Given the description of an element on the screen output the (x, y) to click on. 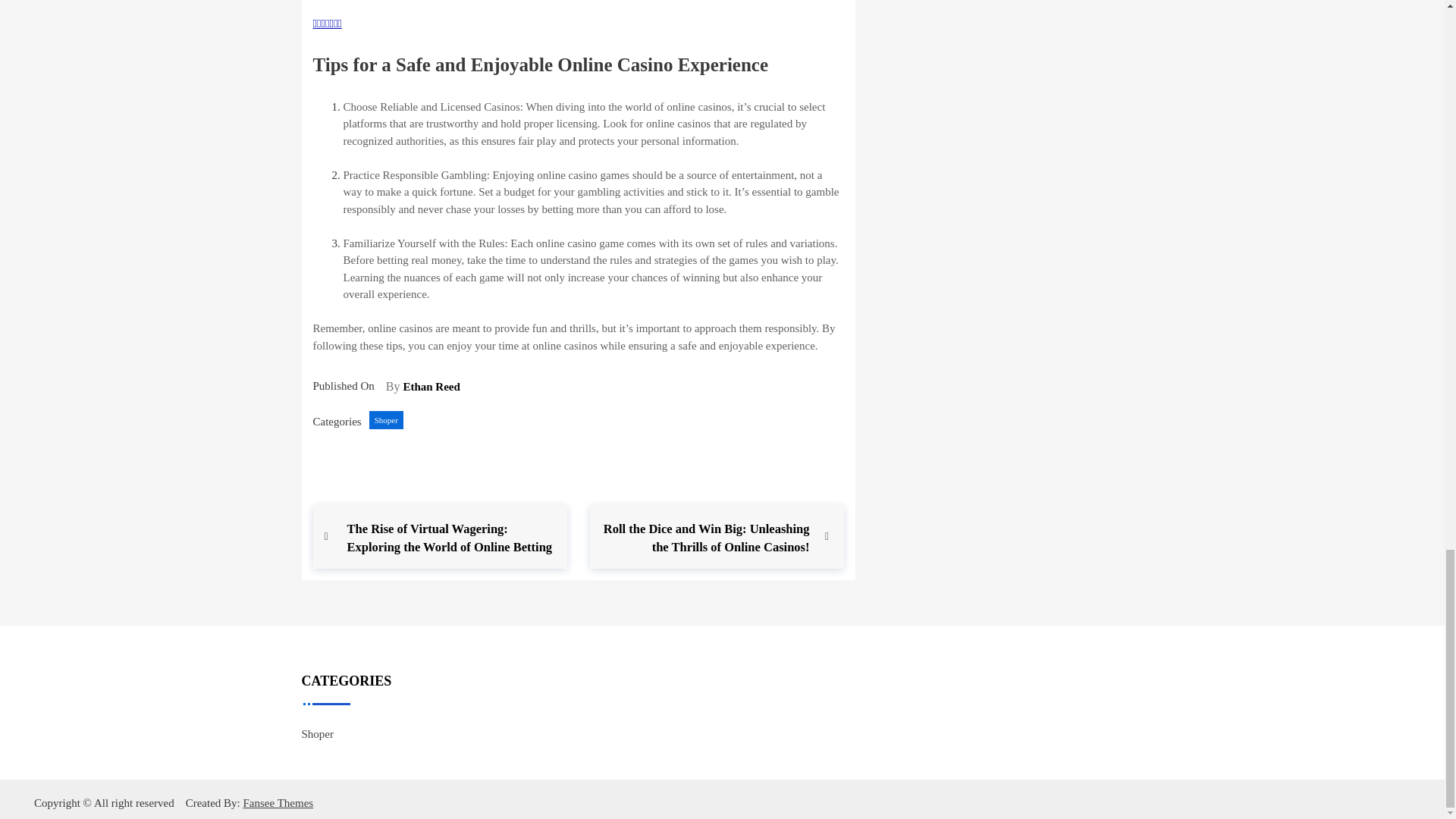
Fansee Themes (276, 803)
Shoper (317, 734)
Ethan Reed (431, 386)
Shoper (386, 420)
